Given the description of an element on the screen output the (x, y) to click on. 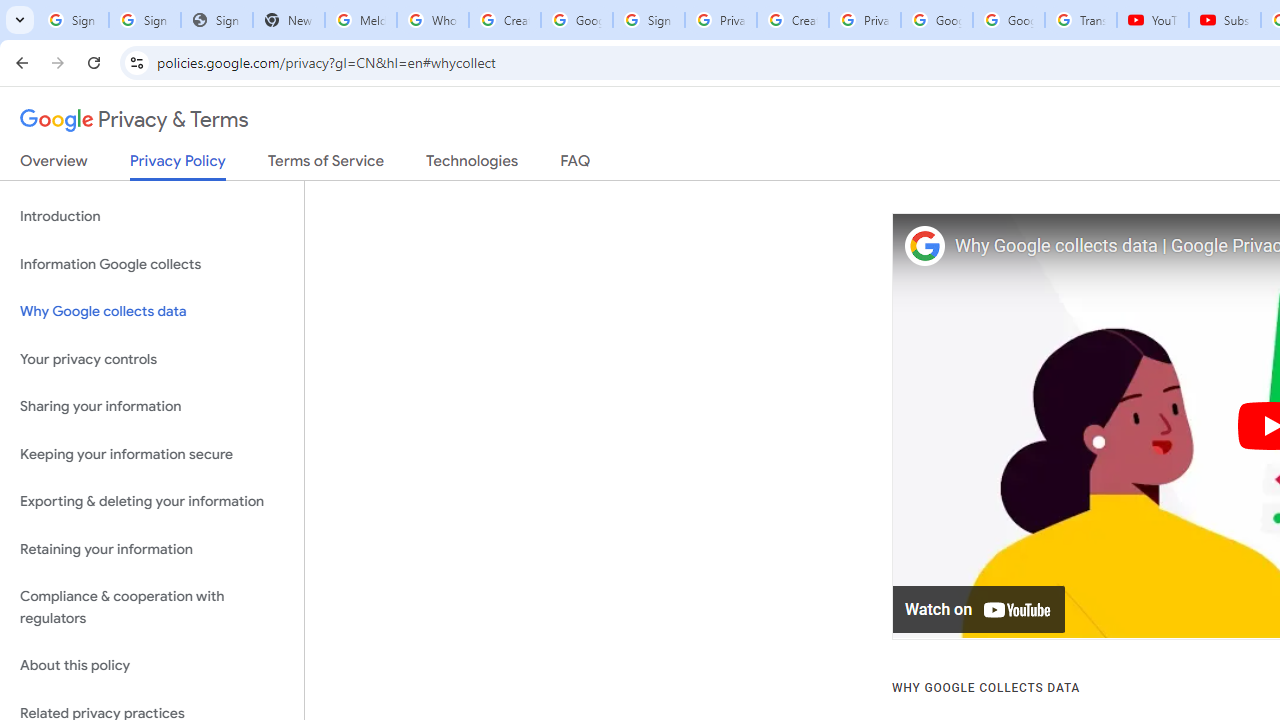
Retaining your information (152, 548)
Subscriptions - YouTube (1224, 20)
Sign In - USA TODAY (216, 20)
Watch on YouTube (979, 610)
